Given the description of an element on the screen output the (x, y) to click on. 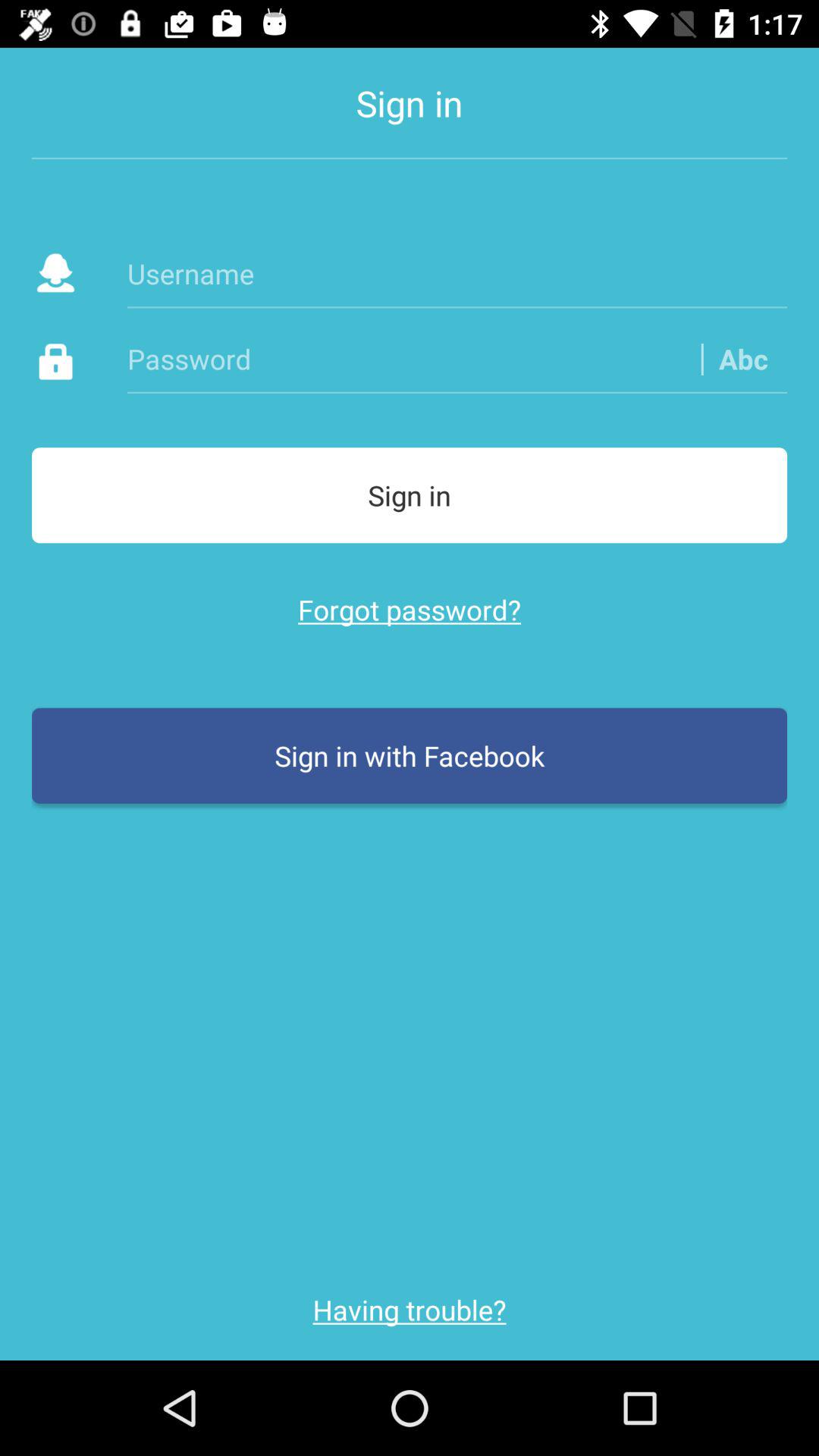
open the item below the sign in with (409, 1309)
